Given the description of an element on the screen output the (x, y) to click on. 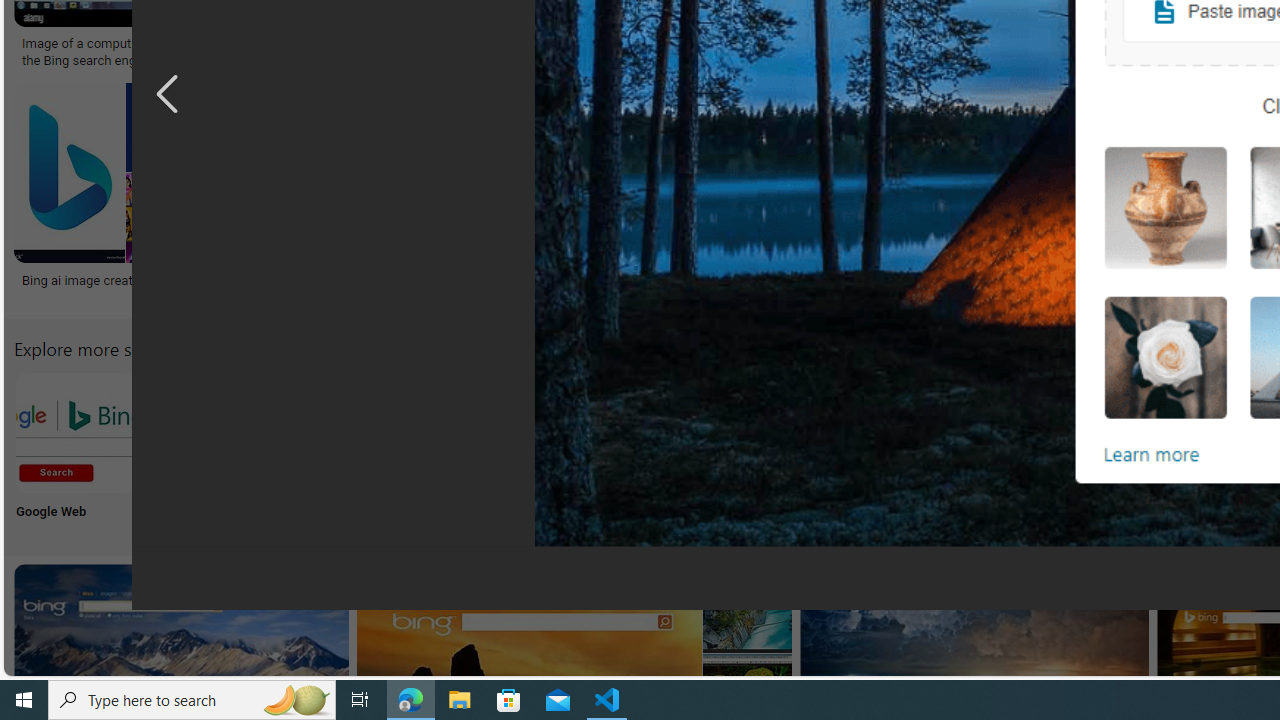
Bing ai image creator (82, 279)
Bing Search Dark Mode (604, 432)
Dark Mode (604, 450)
Bing People Search People (999, 450)
Bing Search App Logo App Logo (207, 450)
People (999, 450)
Bing ai image creatorSave (118, 196)
Internet Explorer Bing Search Internet Explorer (339, 450)
FIX: Downloading proxy script message on Google ChromeSave (930, 196)
Bing People Search (999, 432)
Clip Art (867, 450)
App Logo (207, 450)
BingSave (647, 196)
